Given the description of an element on the screen output the (x, y) to click on. 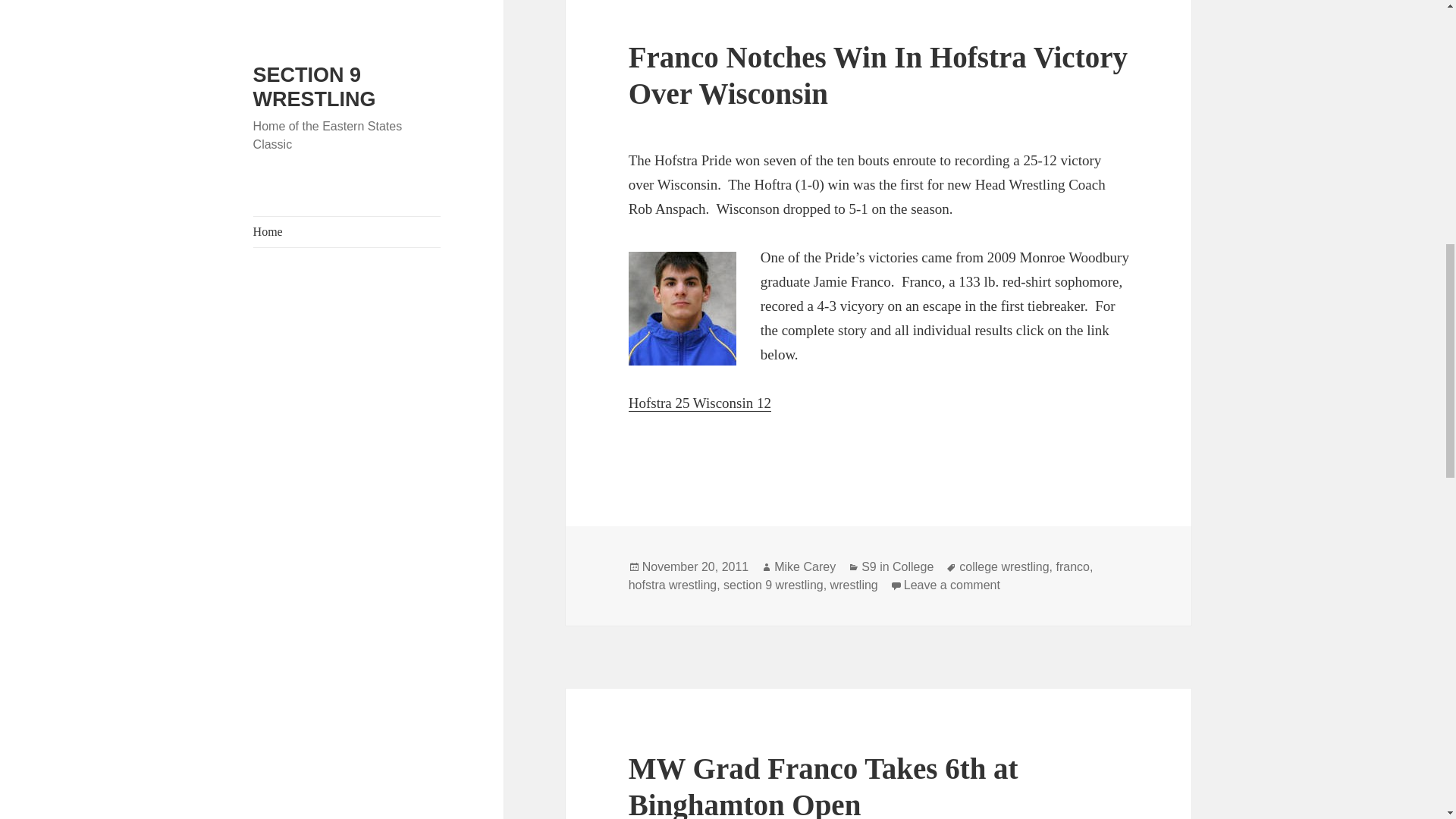
November 20, 2011 (695, 567)
Hofstra 25 Wisconsin 12 (699, 402)
Franco Notches Win In Hofstra Victory Over Wisconsin (877, 74)
hofstra wrestling (672, 585)
Mike Carey (804, 567)
MW Grad Franco Takes 6th at Binghamton Open (822, 785)
college wrestling (1003, 567)
S9 in College (897, 567)
section 9 wrestling (773, 585)
wrestling (853, 585)
FrancoHofstra (682, 308)
franco (1072, 567)
